Given the description of an element on the screen output the (x, y) to click on. 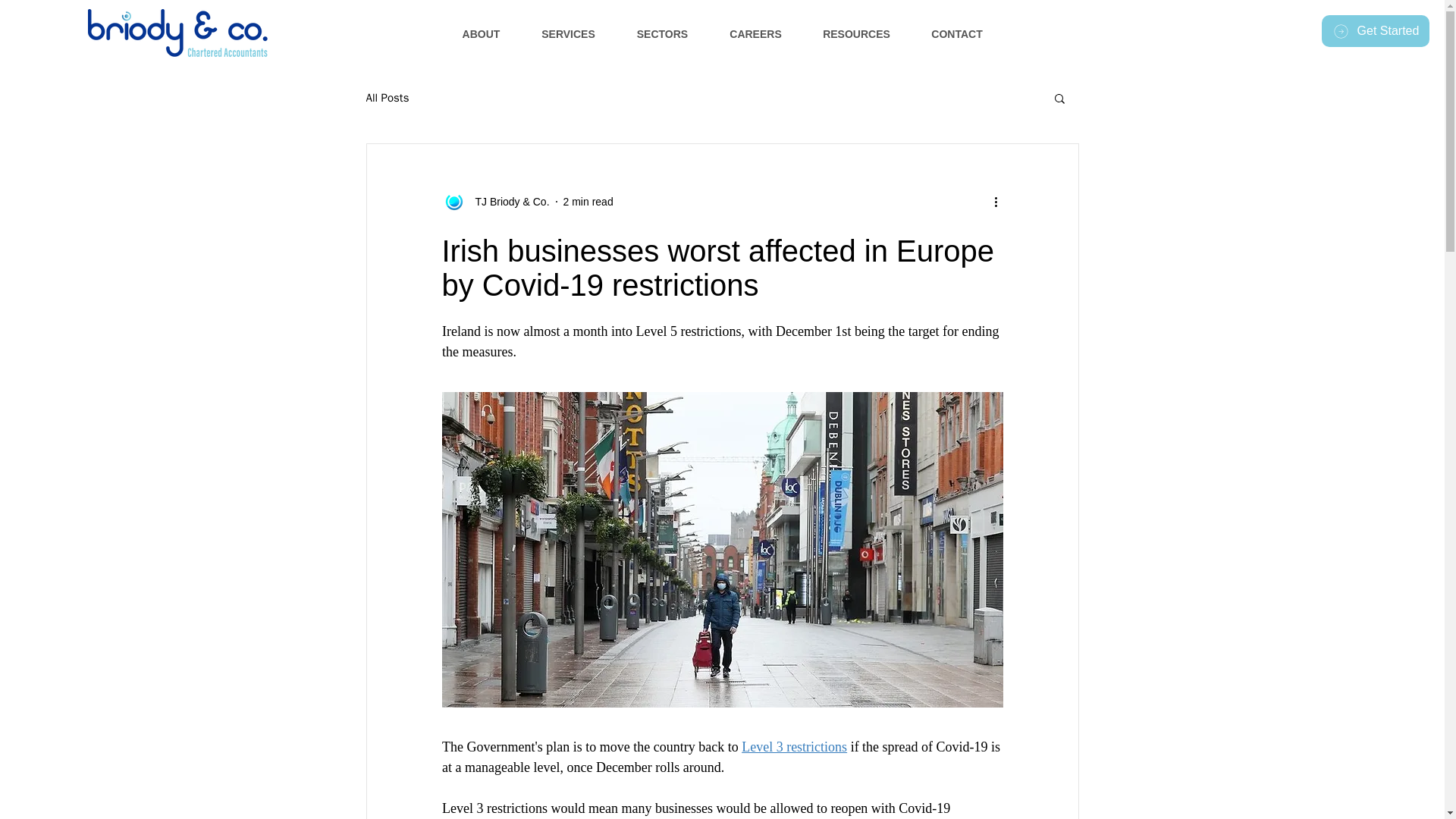
CONTACT (957, 34)
SERVICES (568, 34)
CAREERS (755, 34)
ABOUT (481, 34)
2 min read (587, 201)
